Given the description of an element on the screen output the (x, y) to click on. 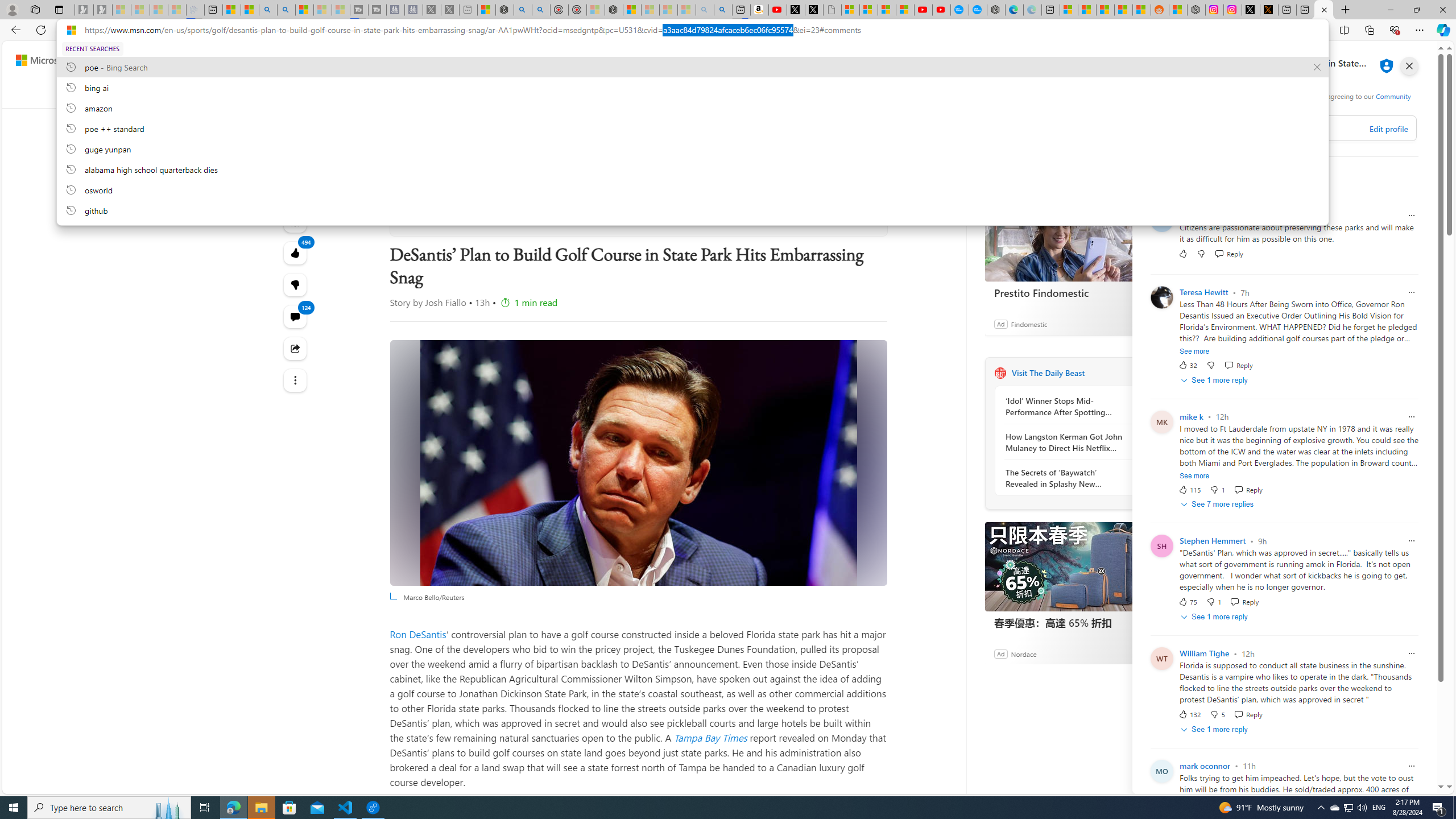
Ad (999, 653)
MLB (555, 92)
Shanghai, China hourly forecast | Microsoft Weather (1105, 9)
WNBA (749, 92)
poe ++ standard, recent searches from history (691, 127)
To get missing image descriptions, open the context menu. (1105, 92)
Tennis (666, 92)
Community Guidelines (1280, 100)
Log in to X / X (1251, 9)
Marco Bello/Reuters (638, 462)
